Given the description of an element on the screen output the (x, y) to click on. 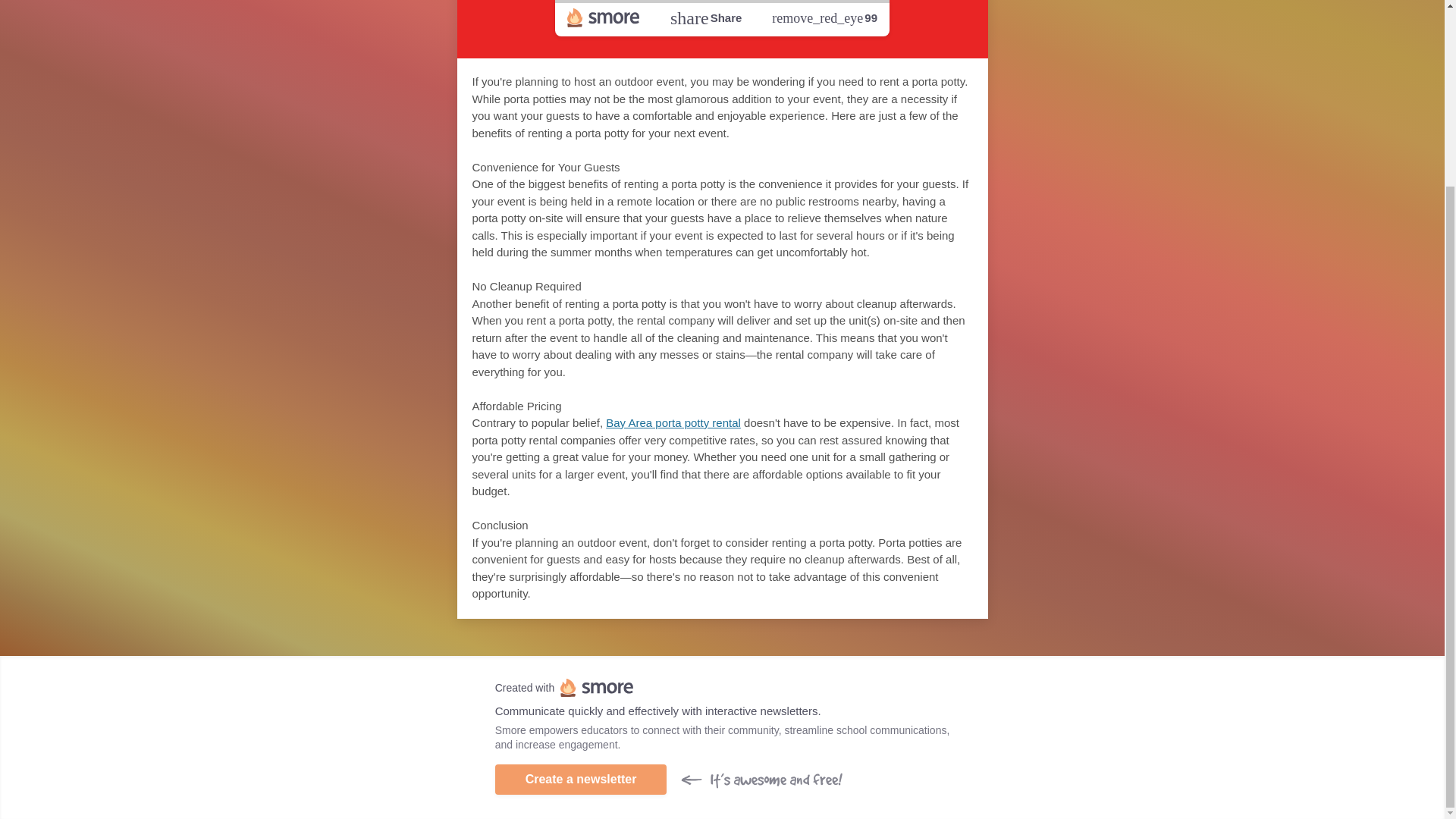
Bay Area porta potty rental (673, 422)
Create a newsletter (580, 779)
